Given the description of an element on the screen output the (x, y) to click on. 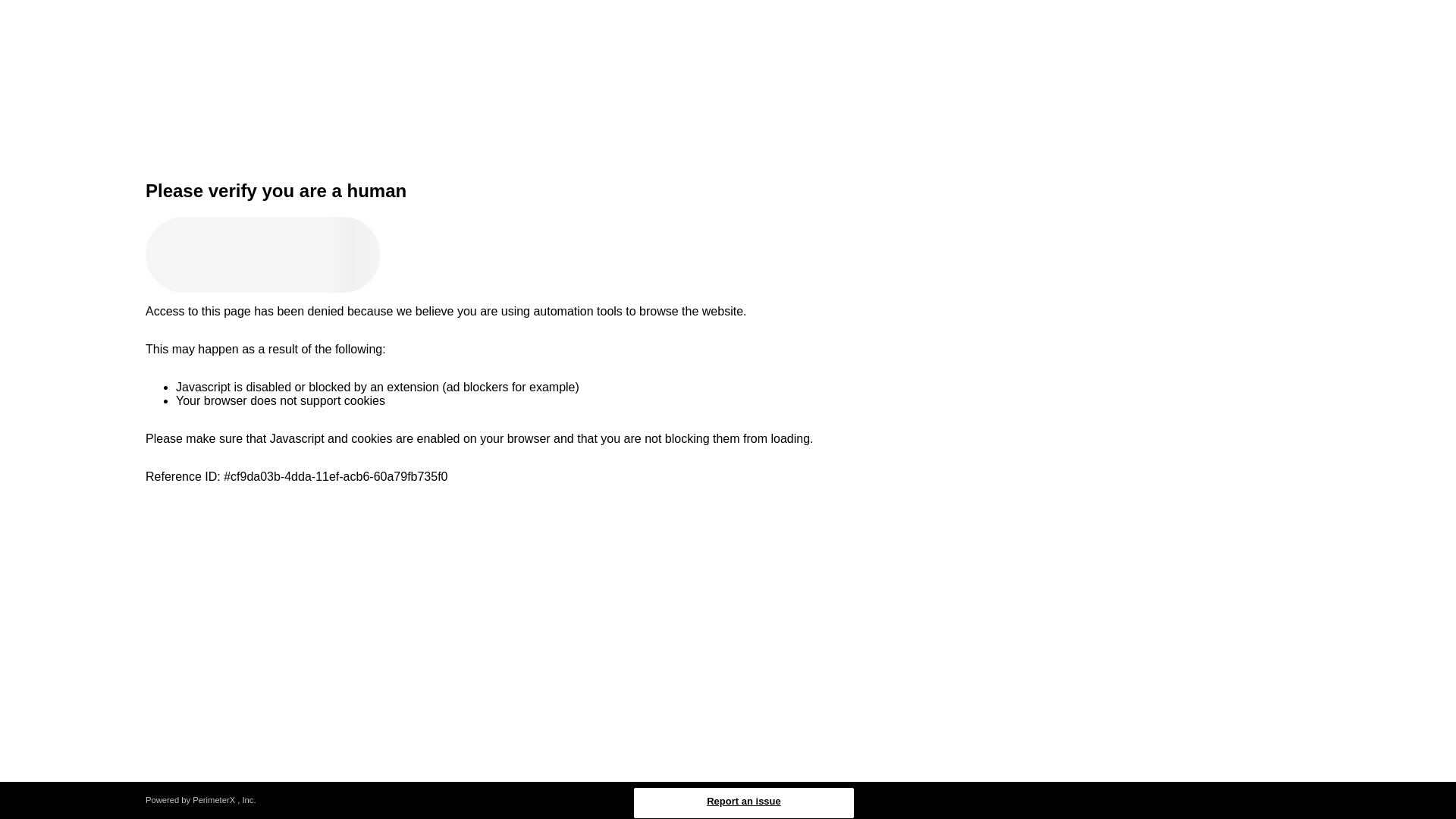
PerimeterX (213, 799)
